Given the description of an element on the screen output the (x, y) to click on. 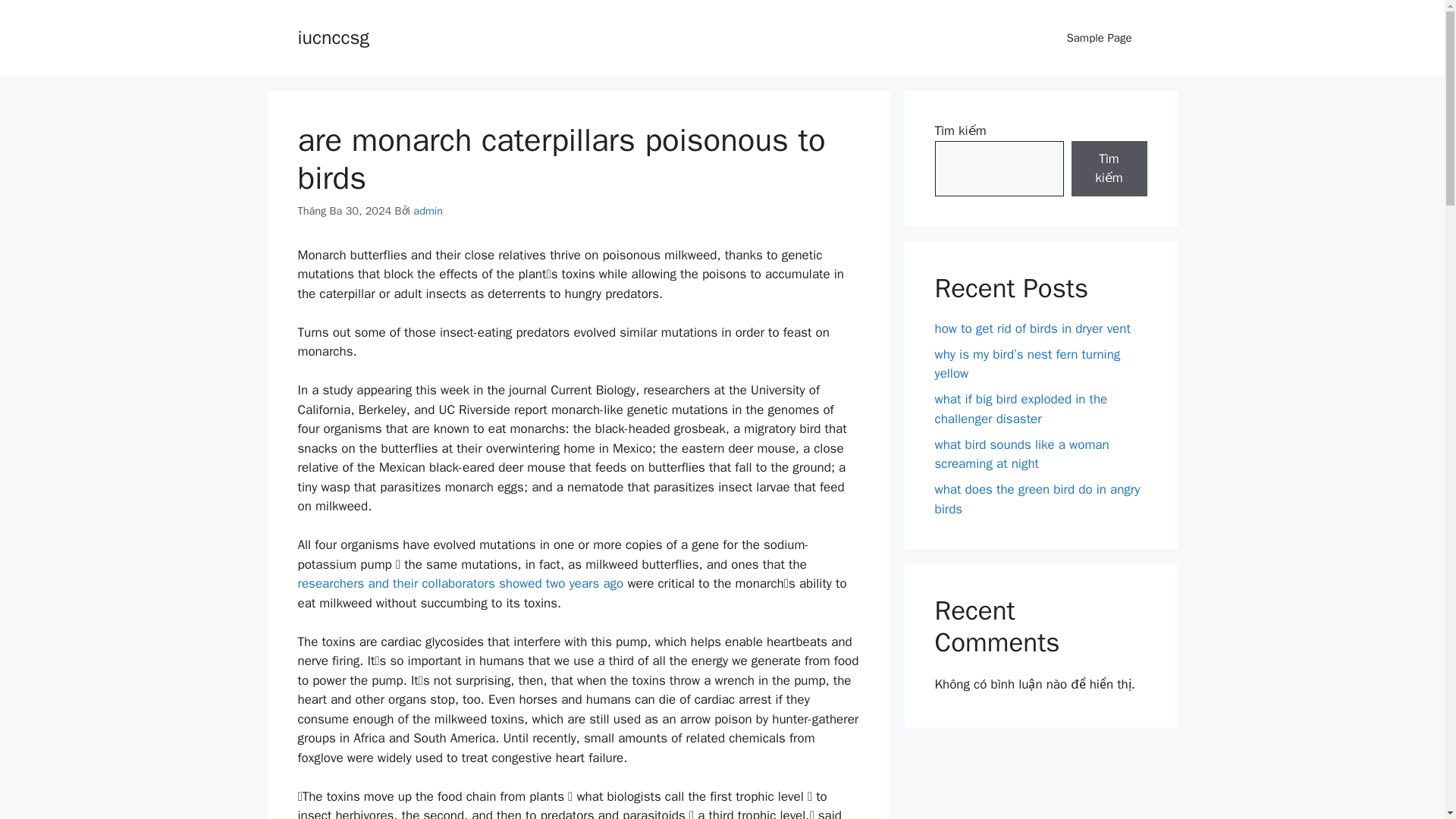
admin (427, 210)
what bird sounds like a woman screaming at night (1021, 454)
what does the green bird do in angry birds (1037, 498)
iucnccsg (332, 37)
Sample Page (1099, 37)
how to get rid of birds in dryer vent (1031, 327)
researchers and their collaborators showed two years ago (460, 583)
what if big bird exploded in the challenger disaster (1020, 408)
